Given the description of an element on the screen output the (x, y) to click on. 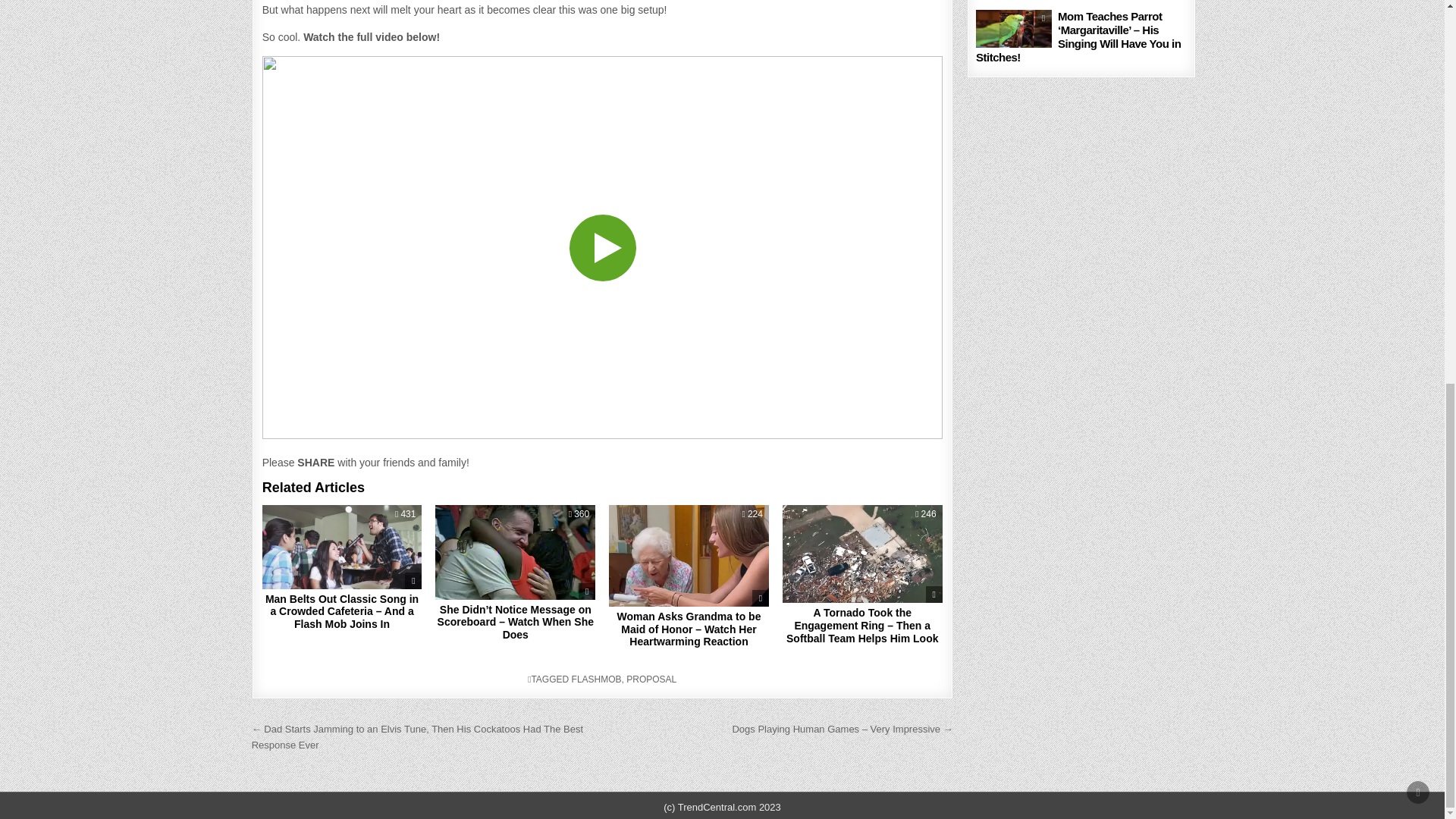
431 Views (404, 513)
SCROLL TO TOP (1417, 73)
360 Views (579, 513)
